Given the description of an element on the screen output the (x, y) to click on. 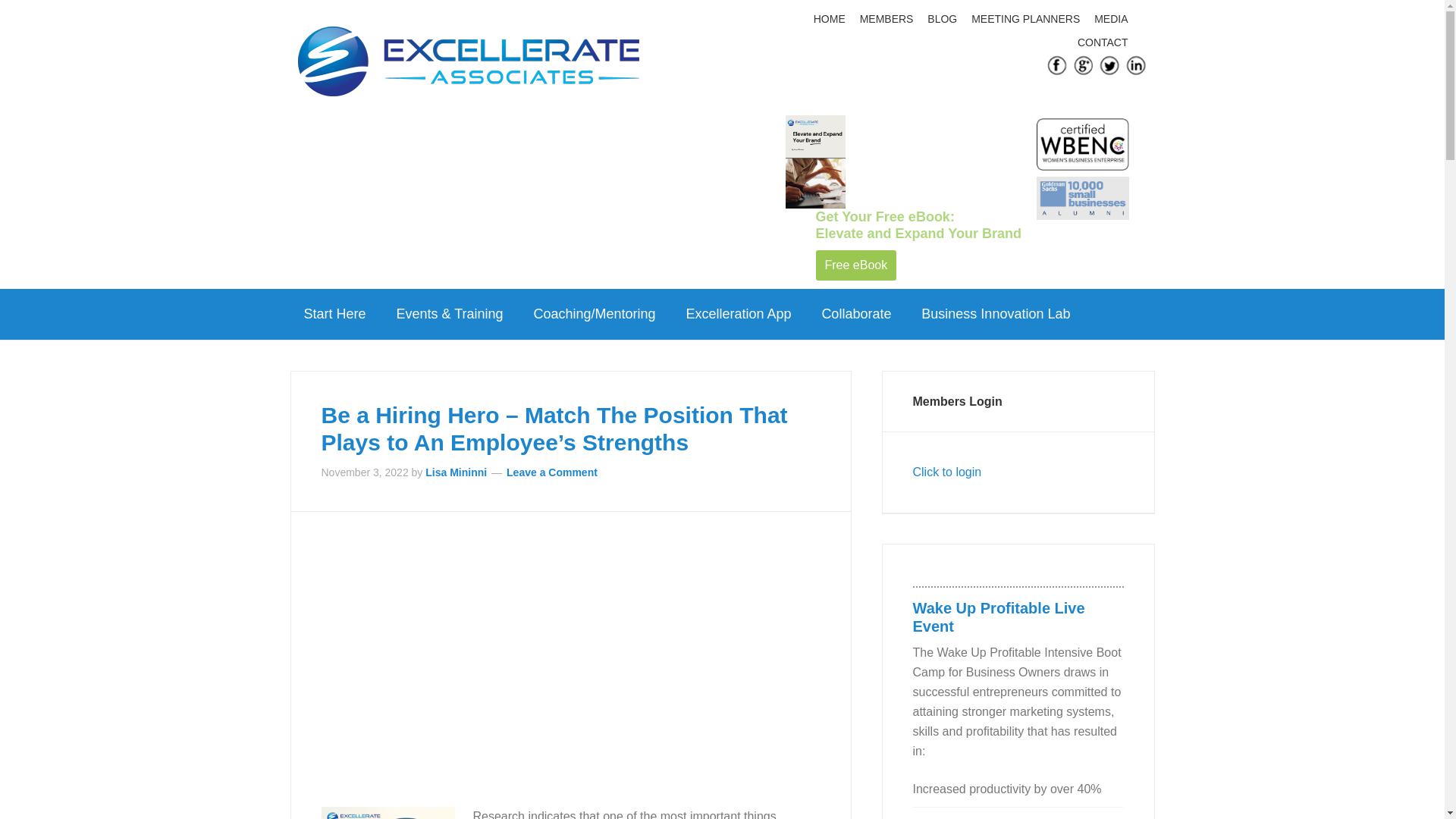
CONTACT (1104, 42)
Start Here (333, 314)
YouTube video player (533, 661)
MEMBERS (888, 19)
Free eBook (855, 265)
MEDIA (1112, 19)
Wake Up Profitable Boot Camp for Business Owners (998, 616)
Excellerate Associates (468, 66)
HOME (831, 19)
BLOG (943, 19)
